Given the description of an element on the screen output the (x, y) to click on. 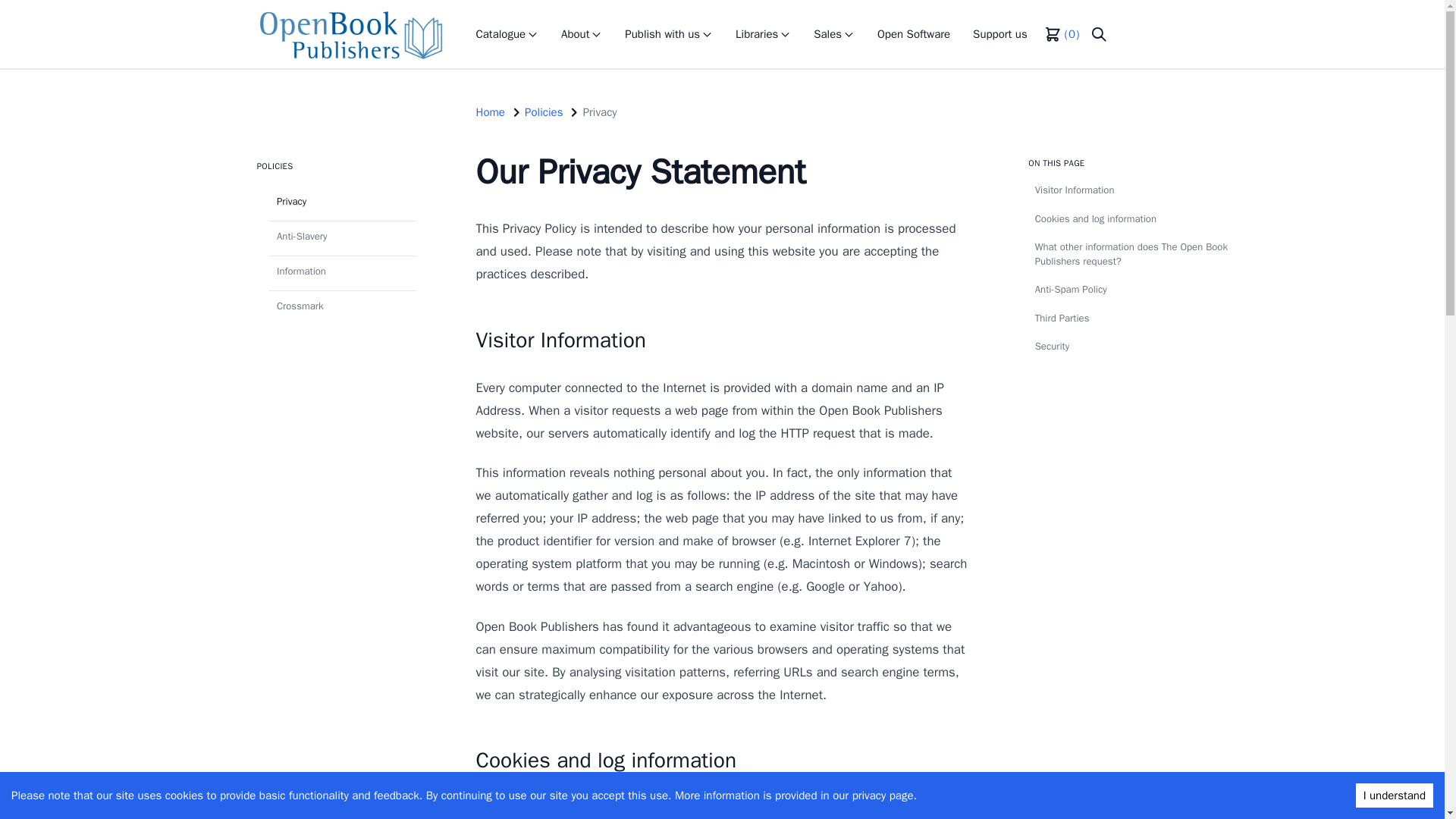
Security (1138, 346)
Visitor Information (1138, 190)
0 (1060, 34)
Privacy (600, 112)
Cookies and log information (1138, 219)
Publish with us (669, 33)
About (580, 33)
Home (490, 112)
Crossmark (341, 305)
Anti-Spam Policy (1138, 289)
